Given the description of an element on the screen output the (x, y) to click on. 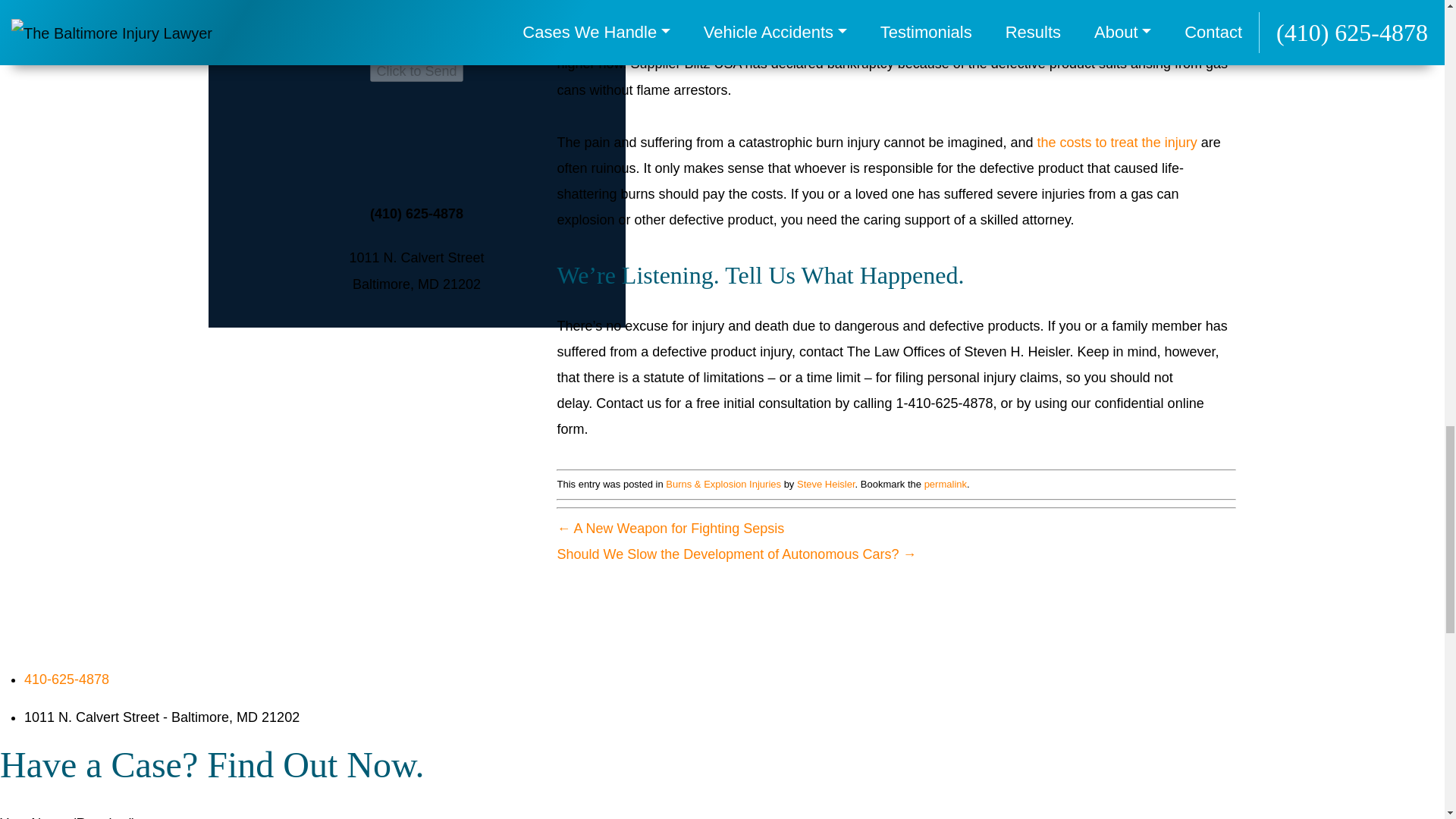
Click to Send (416, 71)
permalink (945, 483)
the costs to treat the injury (1116, 142)
Steve Heisler (826, 483)
